Given the description of an element on the screen output the (x, y) to click on. 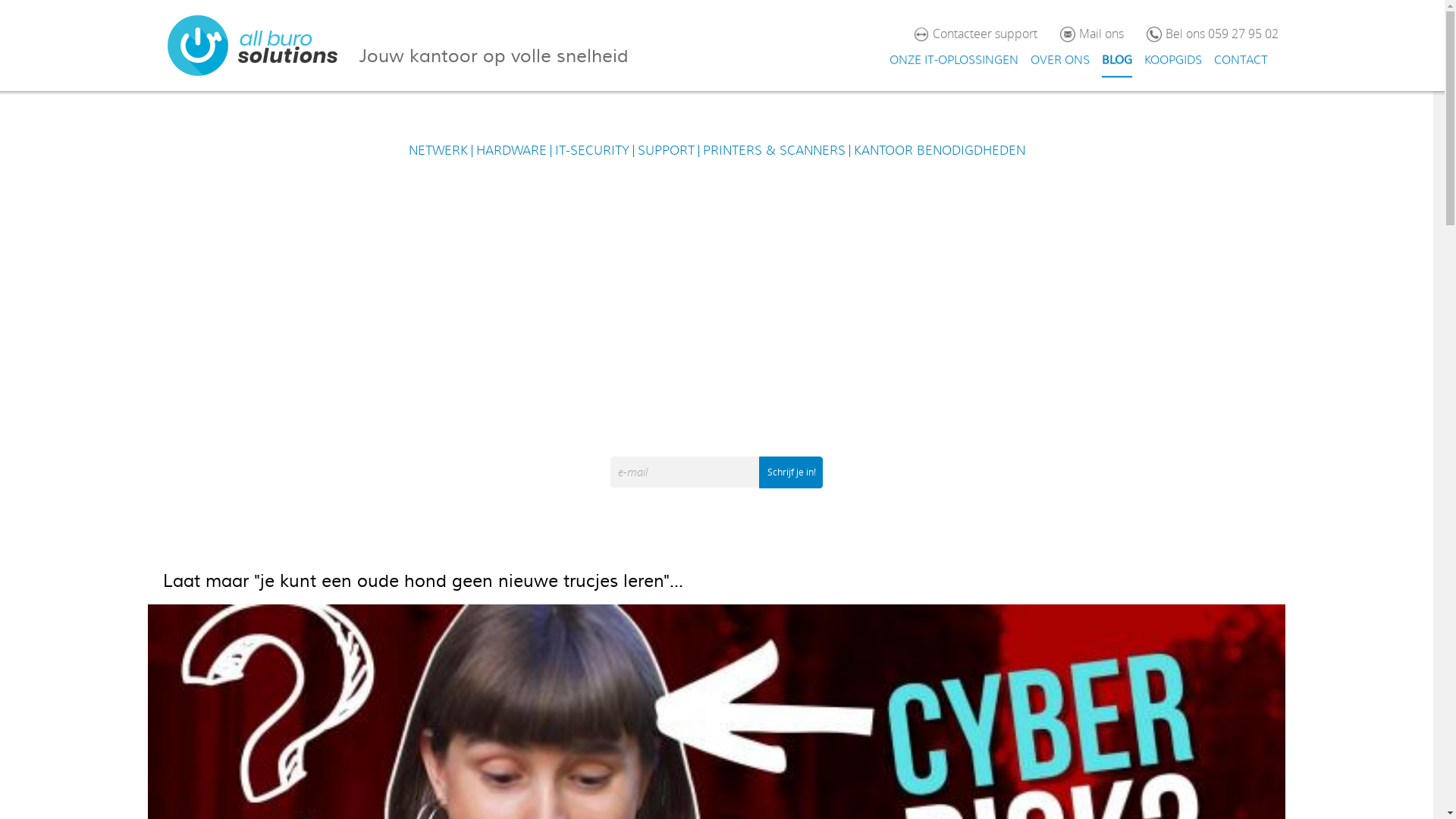
All Buro Solutions Element type: hover (252, 45)
ONZE IT-OPLOSSINGEN Element type: text (952, 60)
SUPPORT Element type: text (665, 150)
KOOPGIDS Element type: text (1172, 60)
IT-SECURITY Element type: text (592, 150)
PRINTERS & SCANNERS Element type: text (773, 150)
Bel ons 059 27 95 02 Element type: text (1220, 34)
CONTACT Element type: text (1240, 60)
OVER ONS Element type: text (1058, 60)
Mail ons Element type: text (1100, 34)
NETWERK Element type: text (437, 150)
Contacteer support Element type: text (984, 34)
Schrijf je in! Element type: text (790, 472)
Terug naar overzicht Element type: text (69, 230)
HARDWARE Element type: text (511, 150)
BLOG Element type: text (1116, 60)
KANTOOR BENODIGDHEDEN Element type: text (939, 150)
